Given the description of an element on the screen output the (x, y) to click on. 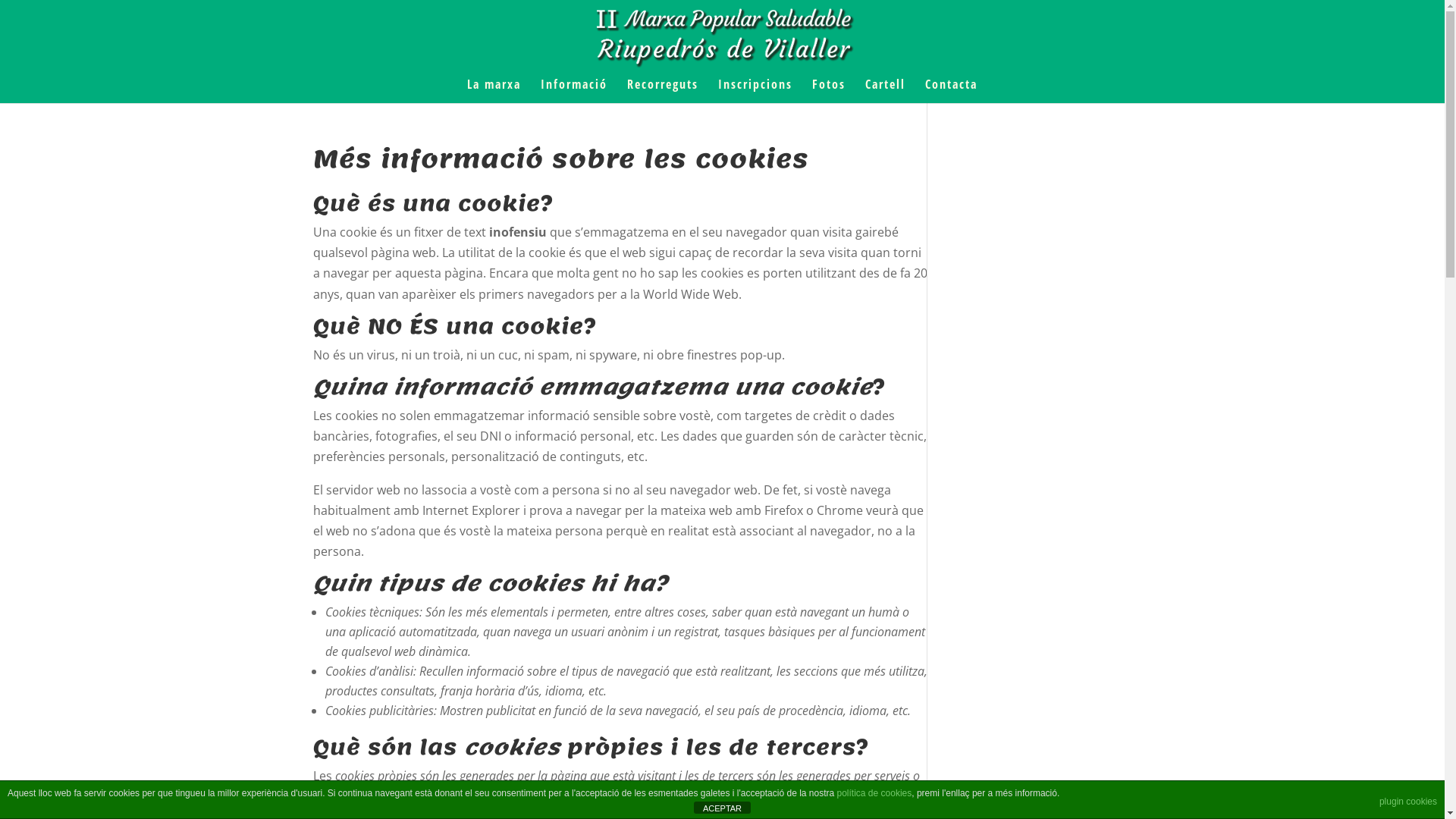
Inscripcions Element type: text (755, 90)
ACEPTAR Element type: text (721, 807)
Recorreguts Element type: text (662, 90)
Fotos Element type: text (828, 90)
plugin cookies Element type: text (1408, 801)
Contacta Element type: text (951, 90)
Cartell Element type: text (885, 90)
La marxa Element type: text (493, 90)
